Given the description of an element on the screen output the (x, y) to click on. 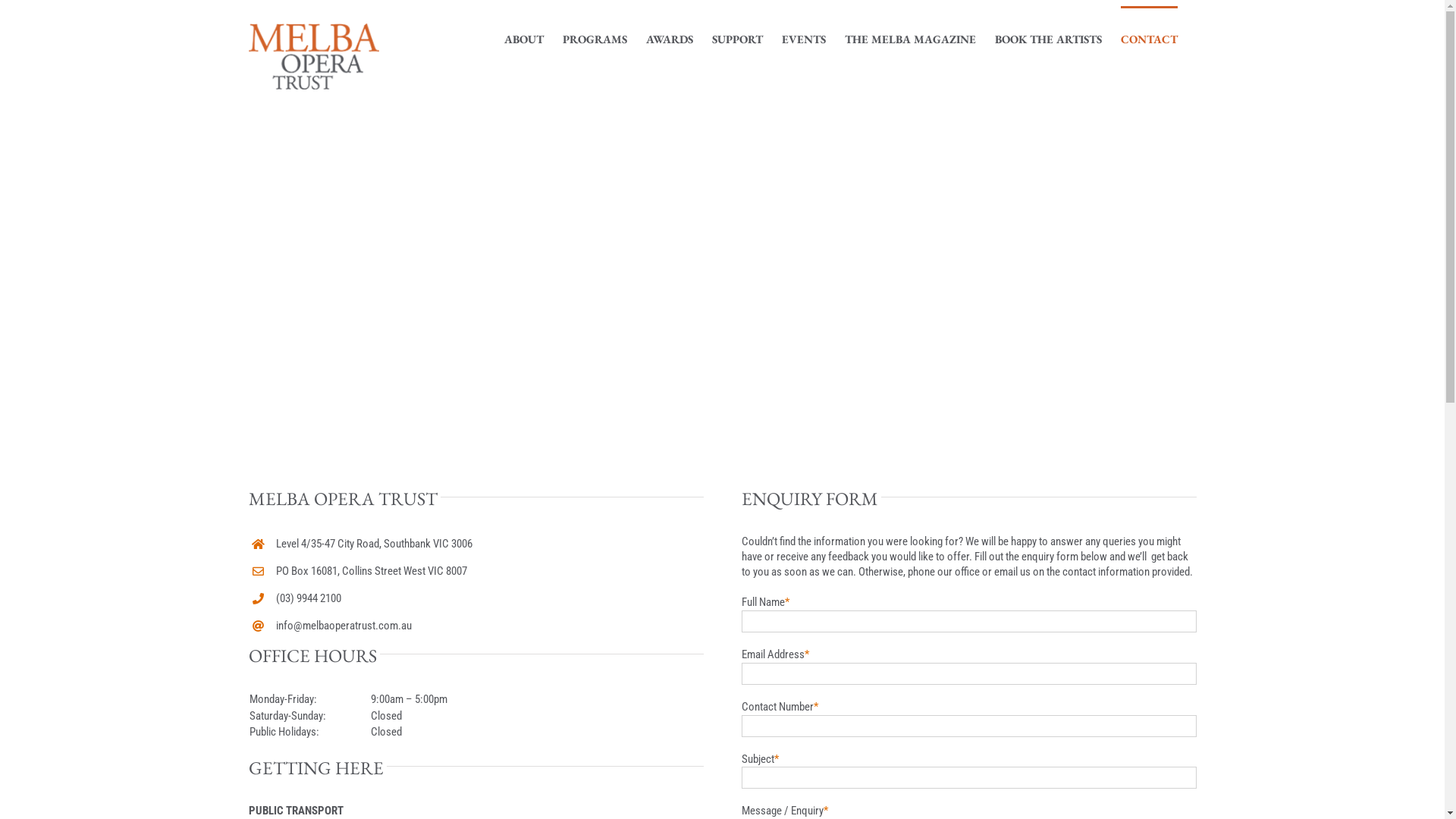
(03) 9944 2100 Element type: text (308, 598)
BOOK THE ARTISTS Element type: text (1047, 37)
EVENTS Element type: text (803, 37)
ABOUT Element type: text (522, 37)
CONTACT Element type: text (1148, 37)
PROGRAMS Element type: text (594, 37)
SUPPORT Element type: text (736, 37)
AWARDS Element type: text (669, 37)
info@melbaoperatrust.com.au Element type: text (343, 625)
THE MELBA MAGAZINE Element type: text (909, 37)
